Given the description of an element on the screen output the (x, y) to click on. 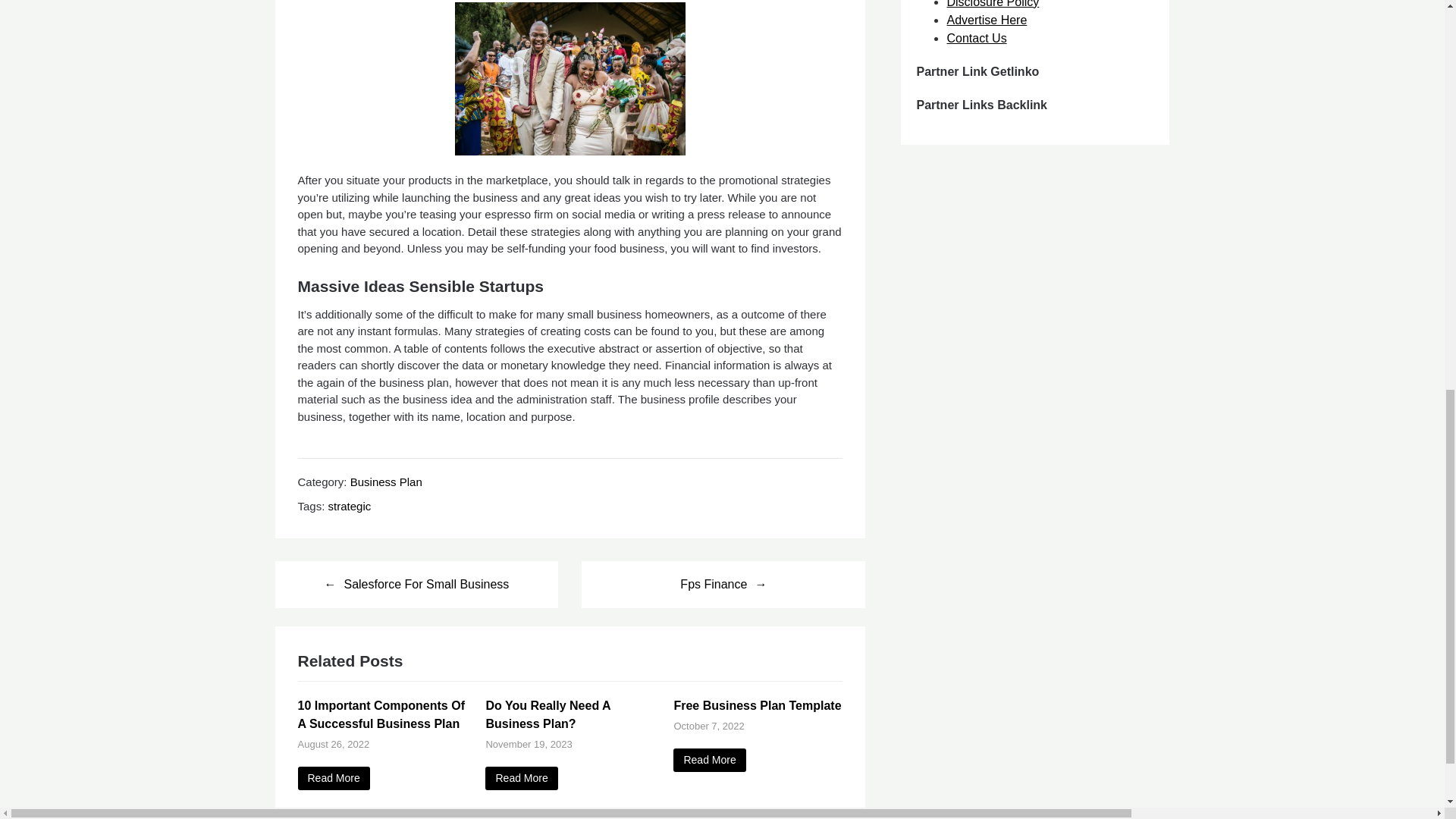
10 Important Components Of A Successful Business Plan (380, 714)
10 Important Components Of A Successful Business Plan (333, 778)
Free Business Plan Template (708, 760)
Do You Really Need A Business Plan? (520, 778)
Read More (708, 760)
Salesforce For Small Business (416, 584)
Free Business Plan Template (756, 705)
Read More (333, 778)
Do You Really Need A Business Plan? (547, 714)
Read More (520, 778)
